Given the description of an element on the screen output the (x, y) to click on. 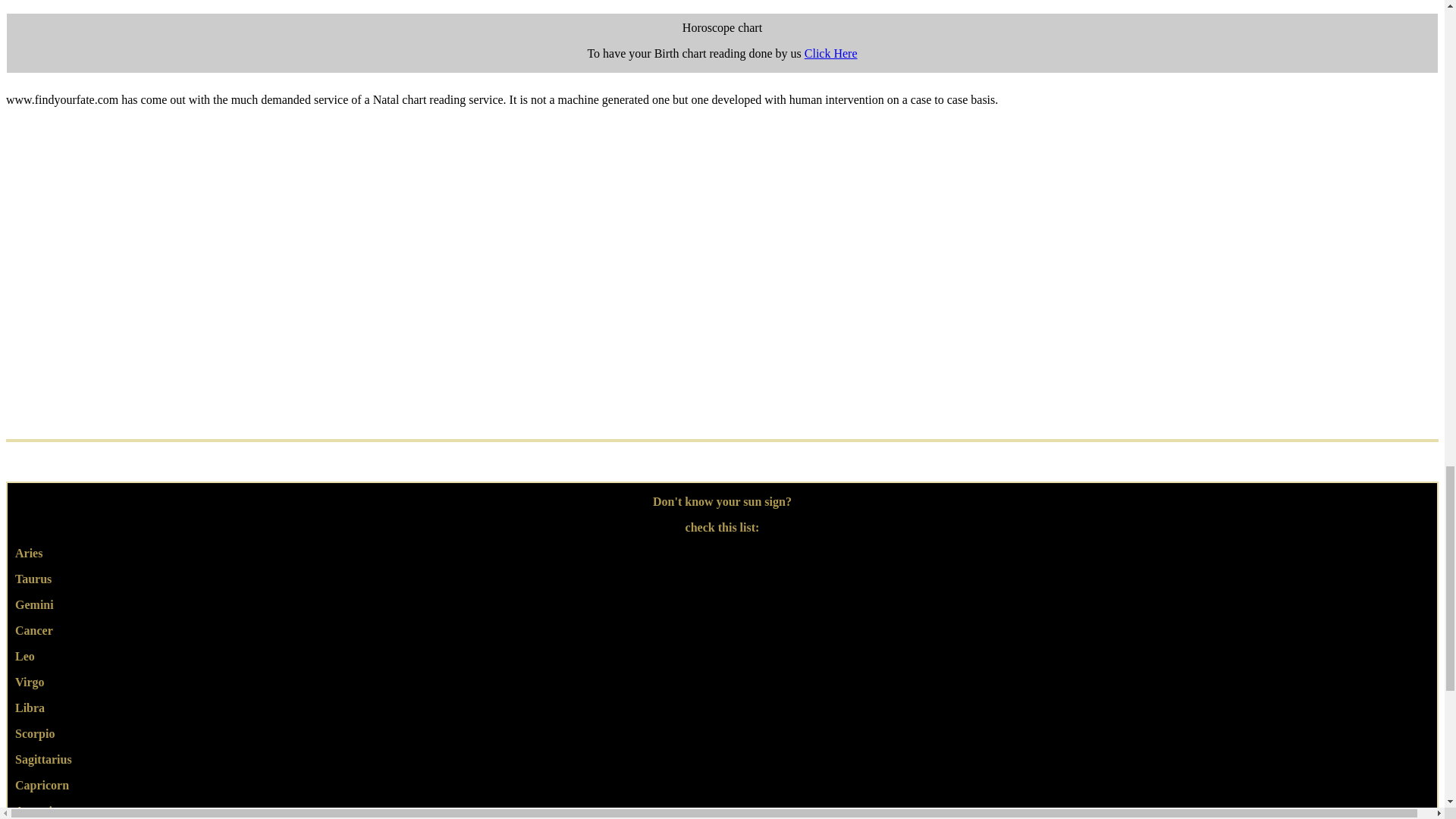
Click Here (831, 52)
